Given the description of an element on the screen output the (x, y) to click on. 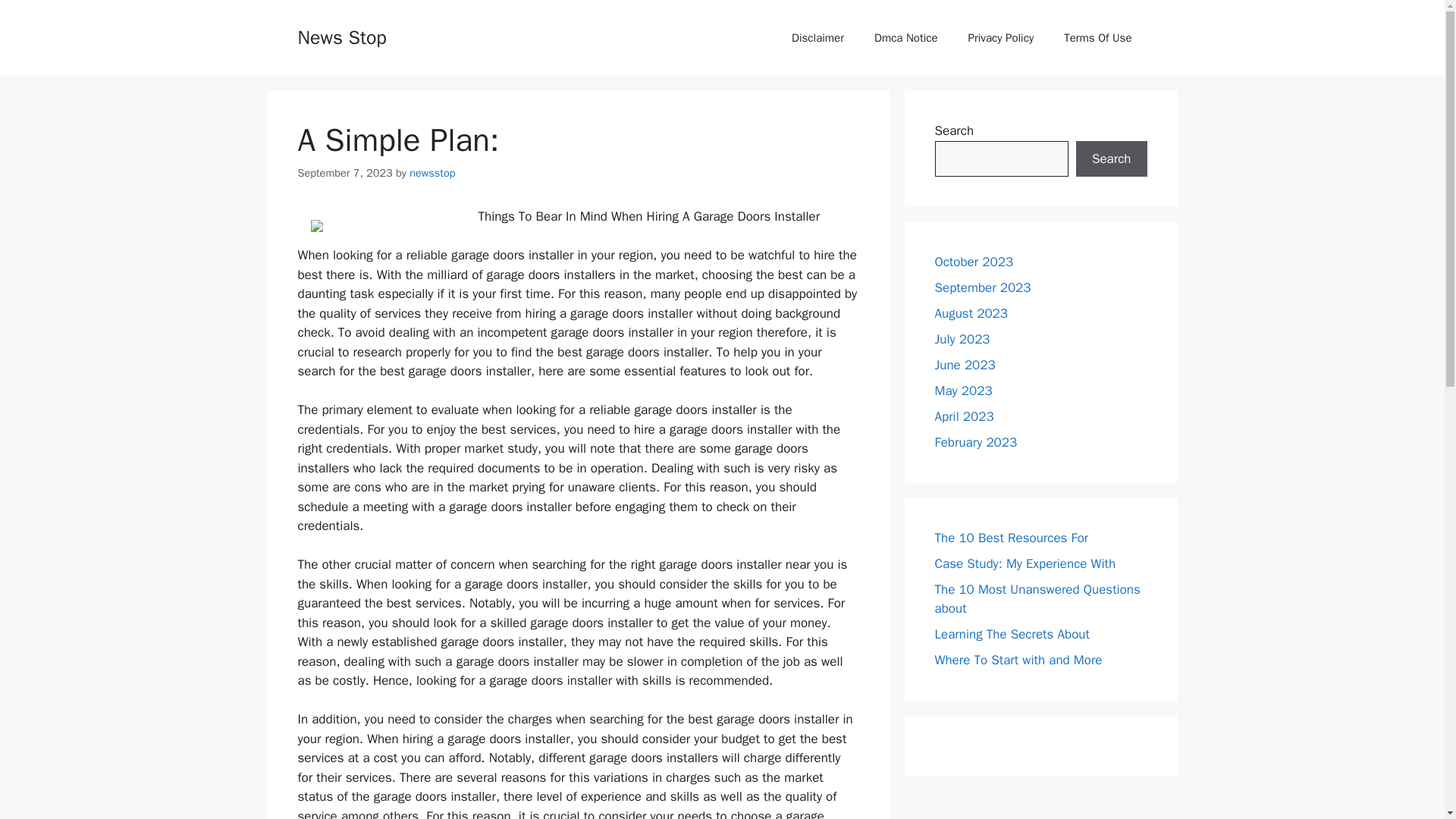
February 2023 (975, 442)
April 2023 (963, 416)
Search (1111, 158)
The 10 Best Resources For (1010, 537)
September 2023 (982, 287)
Terms Of Use (1097, 37)
newsstop (431, 172)
June 2023 (964, 365)
Dmca Notice (906, 37)
Where To Start with and More (1018, 659)
